Given the description of an element on the screen output the (x, y) to click on. 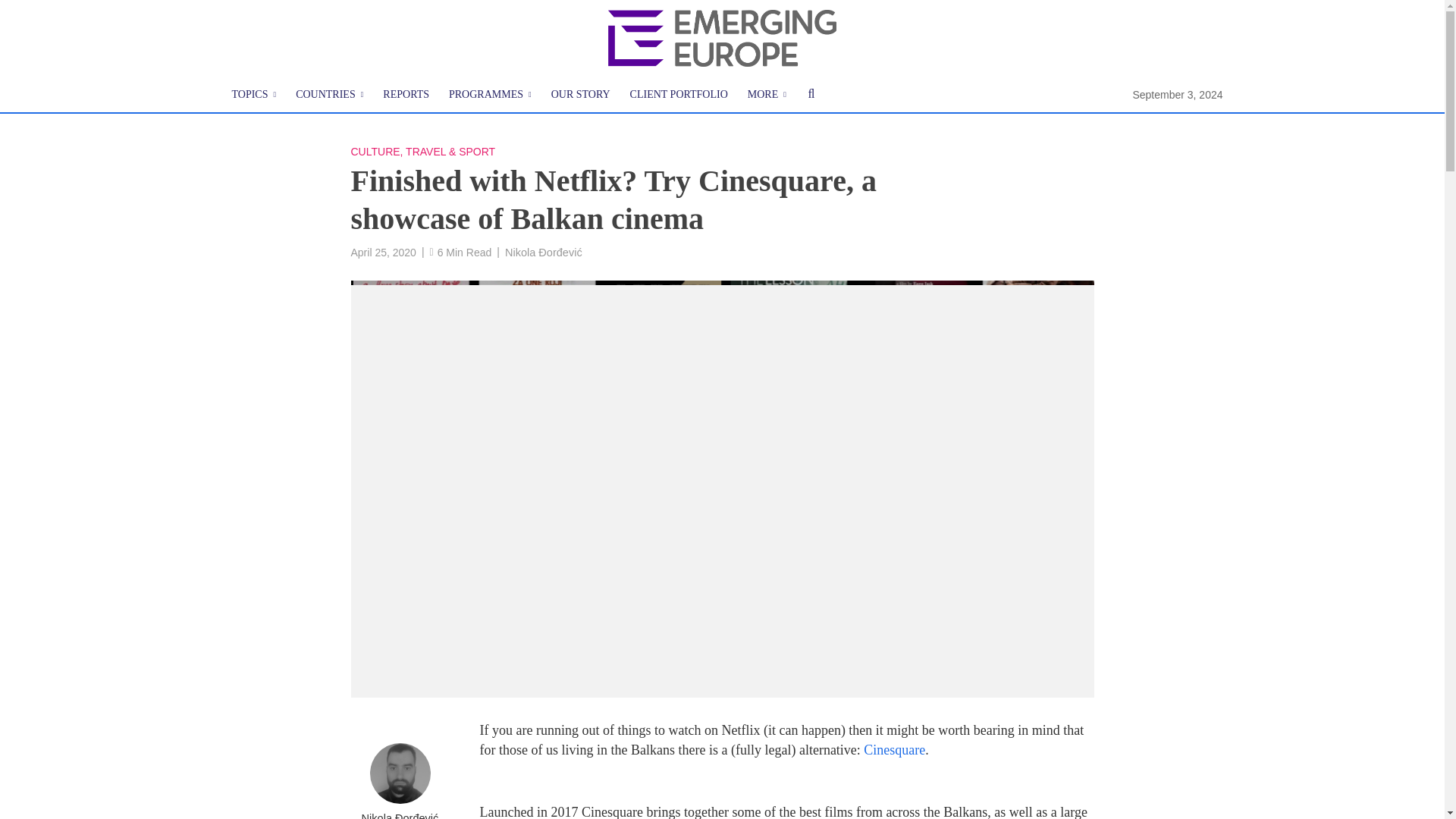
COUNTRIES (328, 94)
PROGRAMMES (490, 94)
TOPICS (253, 94)
REPORTS (405, 94)
